Given the description of an element on the screen output the (x, y) to click on. 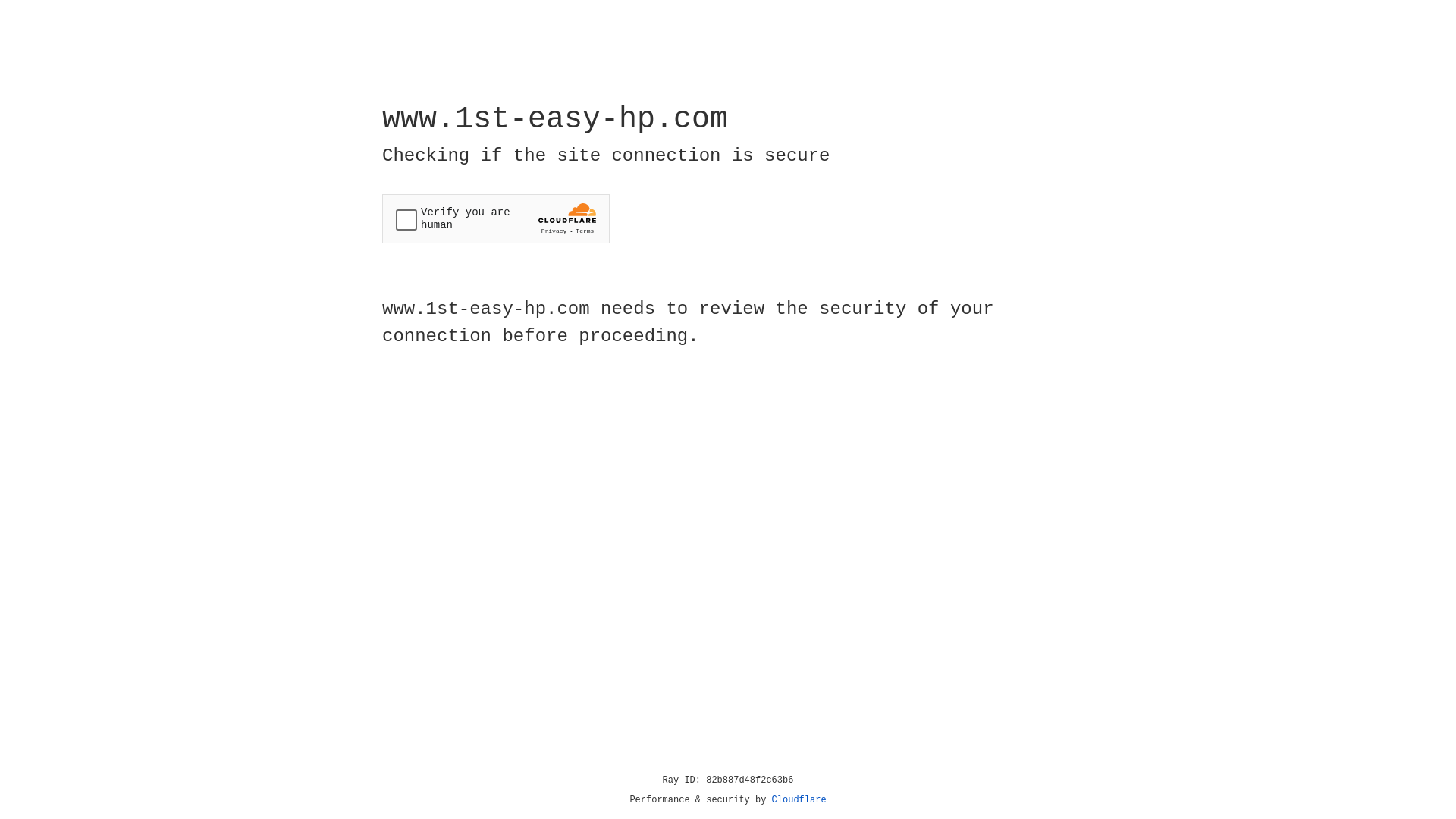
Cloudflare Element type: text (798, 799)
Widget containing a Cloudflare security challenge Element type: hover (495, 218)
